Given the description of an element on the screen output the (x, y) to click on. 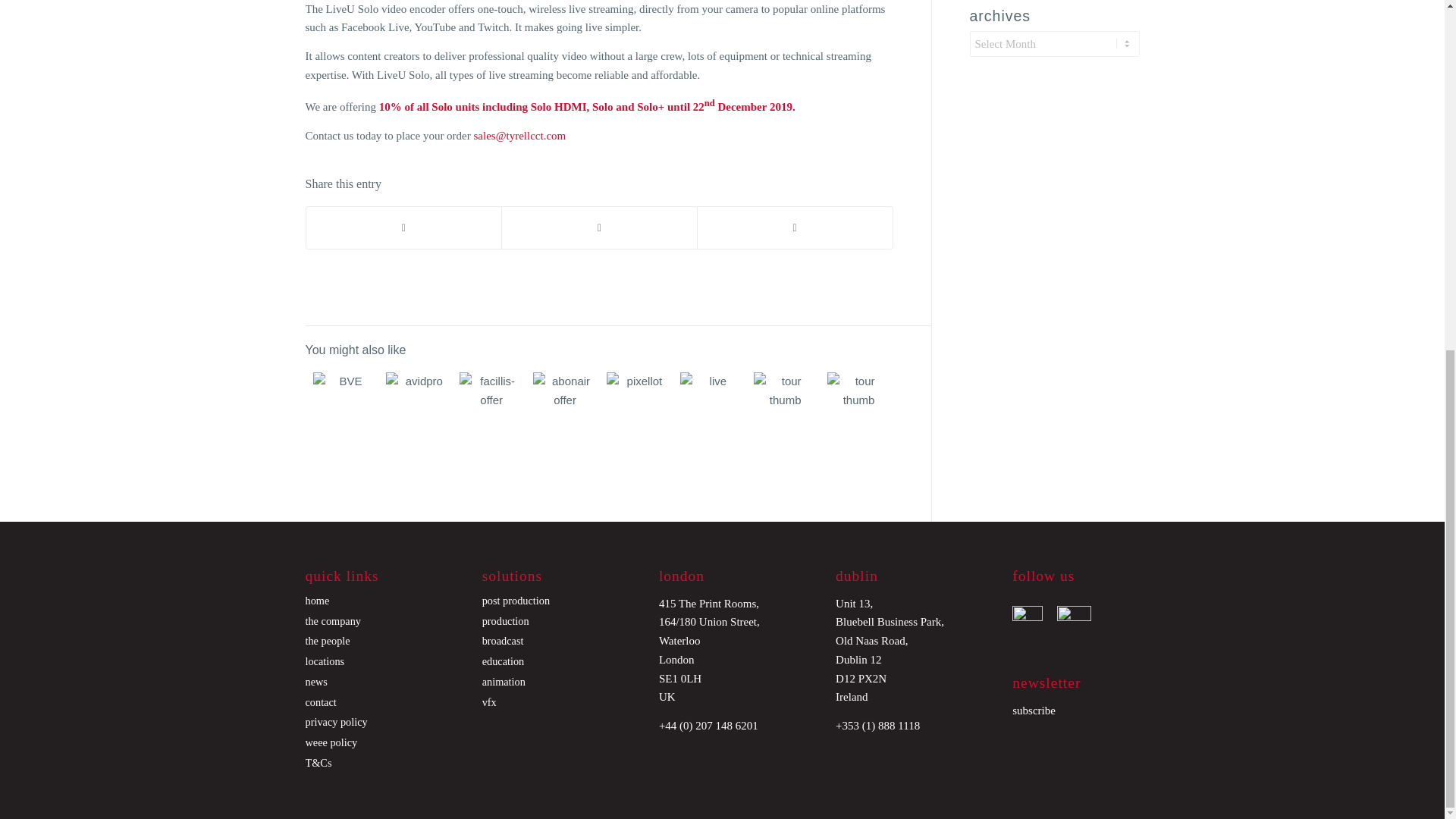
BVE-top-banner-1903x557bann (344, 403)
Exclusive offer ends (340, 403)
tyBlog-Thumb-Facillis (491, 403)
Facilis Hub Shared Storage Limited-Time Offers (487, 403)
avidpro (417, 403)
